Given the description of an element on the screen output the (x, y) to click on. 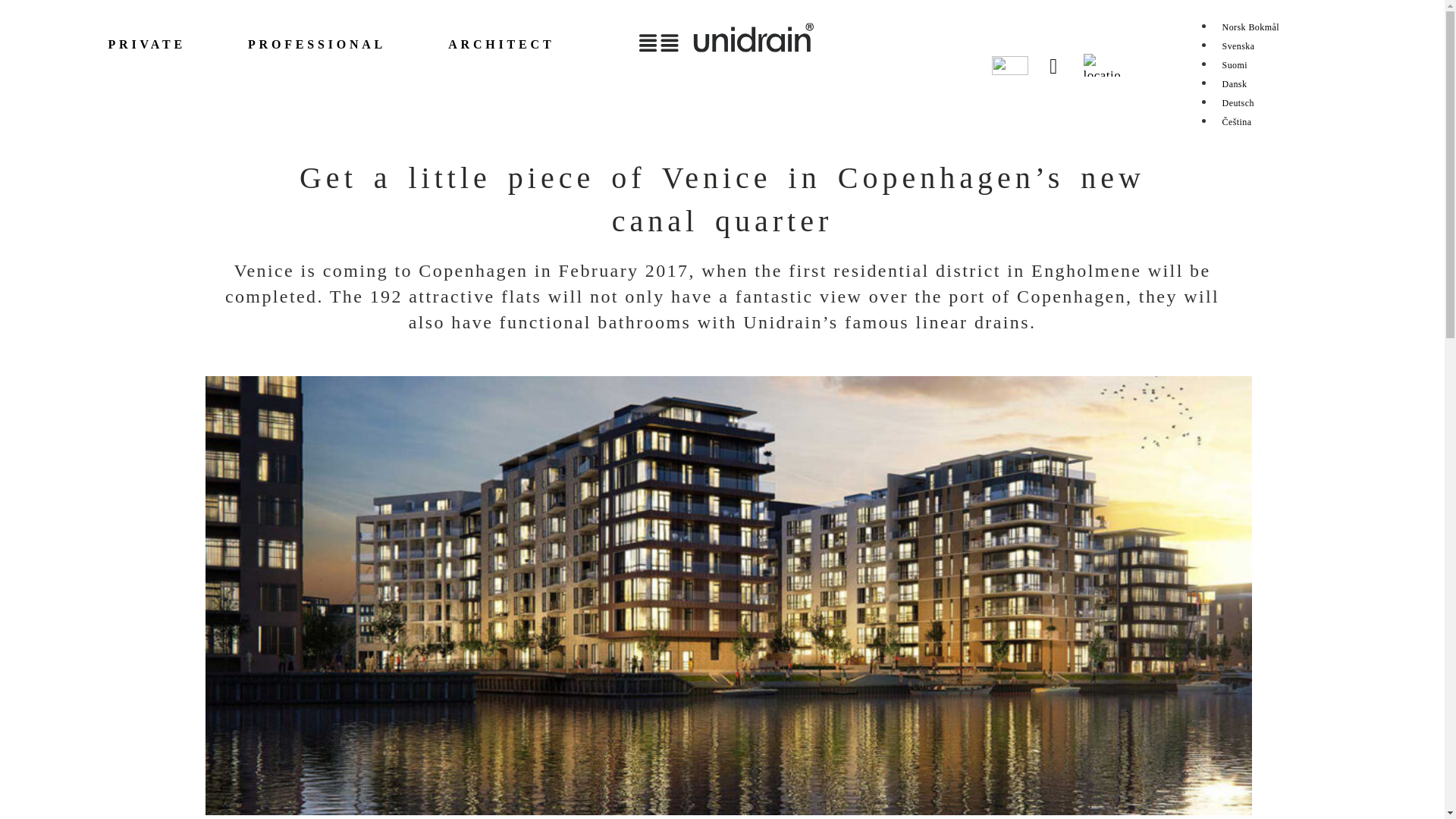
PRIVATE (173, 44)
location (1101, 65)
PROFESSIONAL (340, 44)
